Given the description of an element on the screen output the (x, y) to click on. 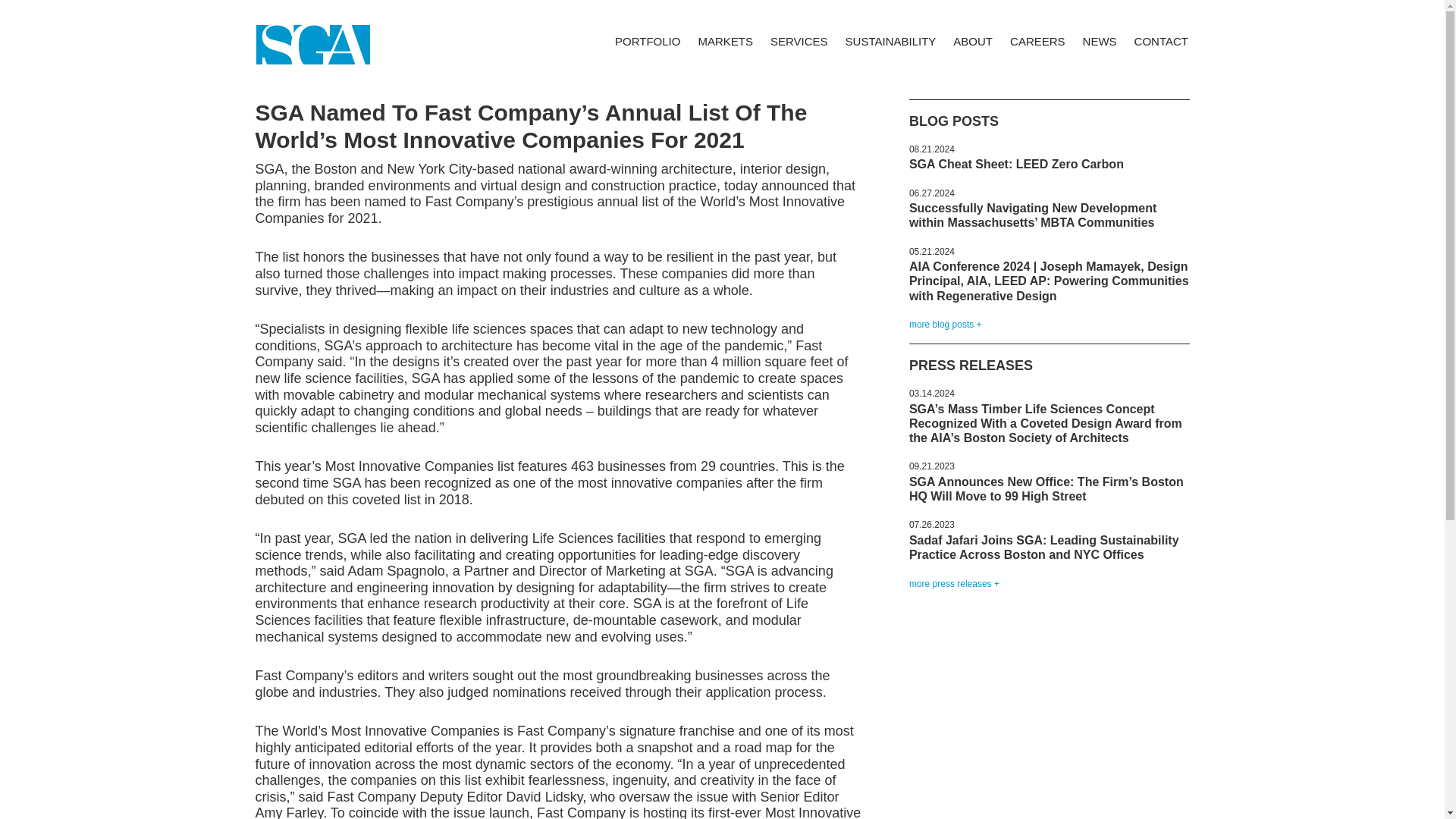
NEWS (1099, 40)
Blog (944, 324)
MARKETS (725, 40)
CAREERS (1037, 40)
Press Releases (953, 583)
SERVICES (798, 40)
PORTFOLIO (647, 40)
SUSTAINABILITY (890, 40)
ABOUT (972, 40)
